Given the description of an element on the screen output the (x, y) to click on. 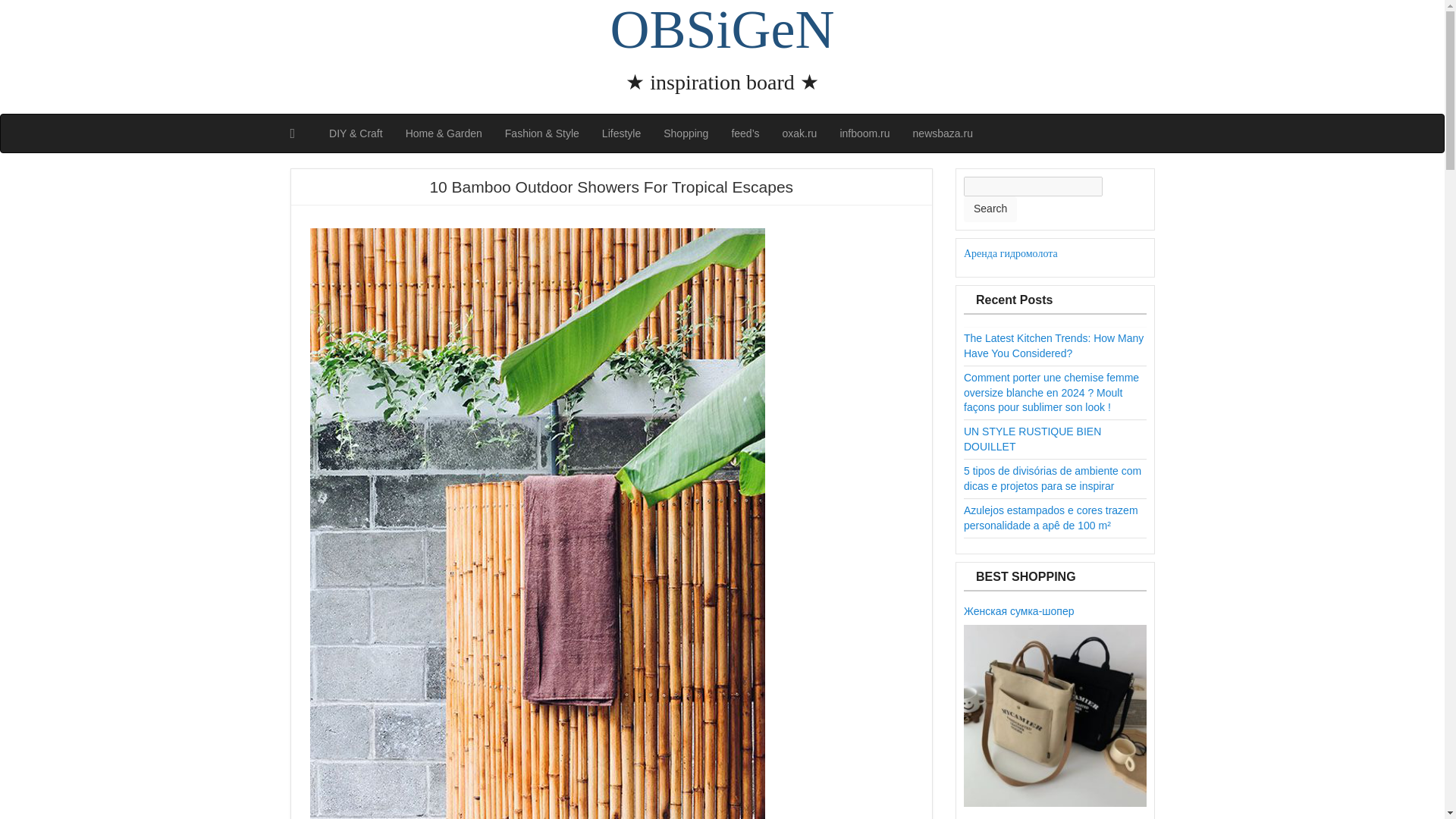
Lifestyle (621, 133)
UN STYLE RUSTIQUE BIEN DOUILLET (1031, 438)
The Latest Kitchen Trends: How Many Have You Considered? (1052, 345)
oxak.ru (799, 133)
Shopping (685, 133)
Lifestyle (621, 133)
Search (989, 208)
infboom.ru (864, 133)
Hd57bb1fcb3284f8f9a3bbe8ff37278c (1055, 715)
newsbaza.ru (942, 133)
